Given the description of an element on the screen output the (x, y) to click on. 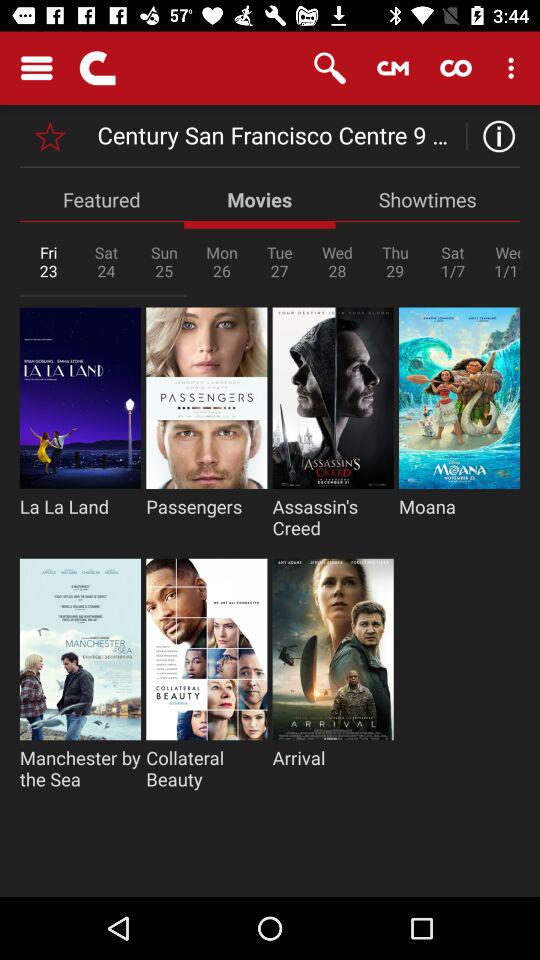
more information (493, 136)
